Given the description of an element on the screen output the (x, y) to click on. 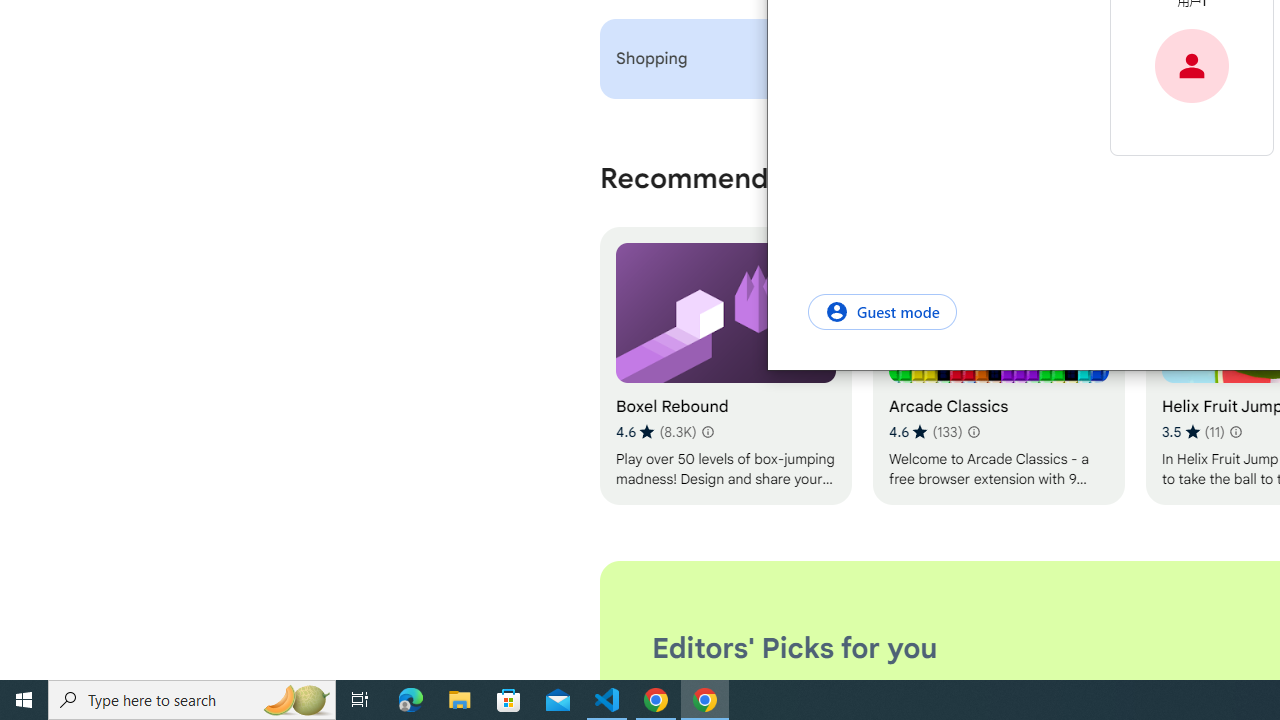
Average rating 3.5 out of 5 stars. 11 ratings. (1192, 431)
Type here to search (191, 699)
Task View (359, 699)
